Given the description of an element on the screen output the (x, y) to click on. 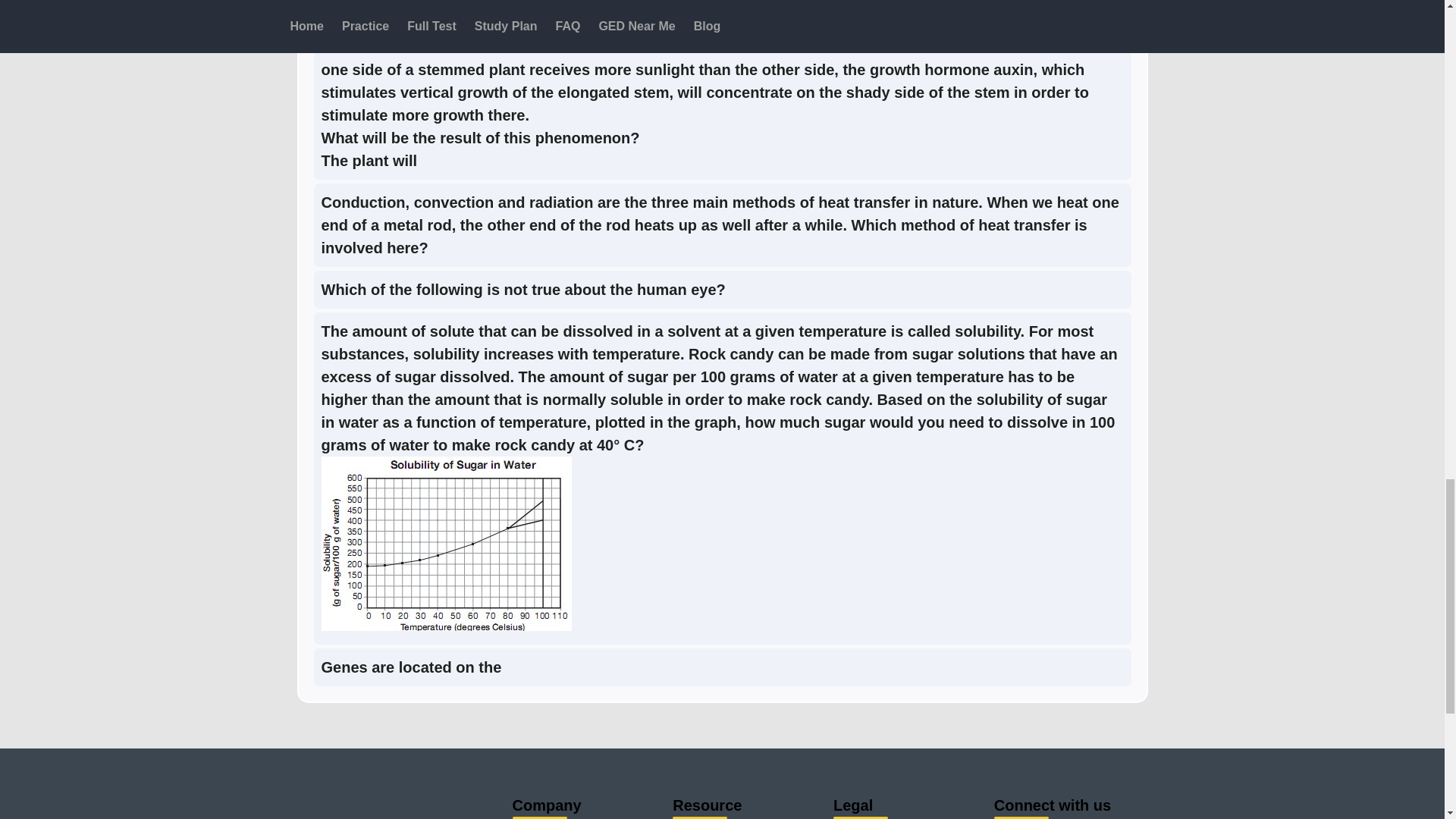
Which of the following is not true about the human eye? (523, 288)
Genes are located on the (411, 666)
